Given the description of an element on the screen output the (x, y) to click on. 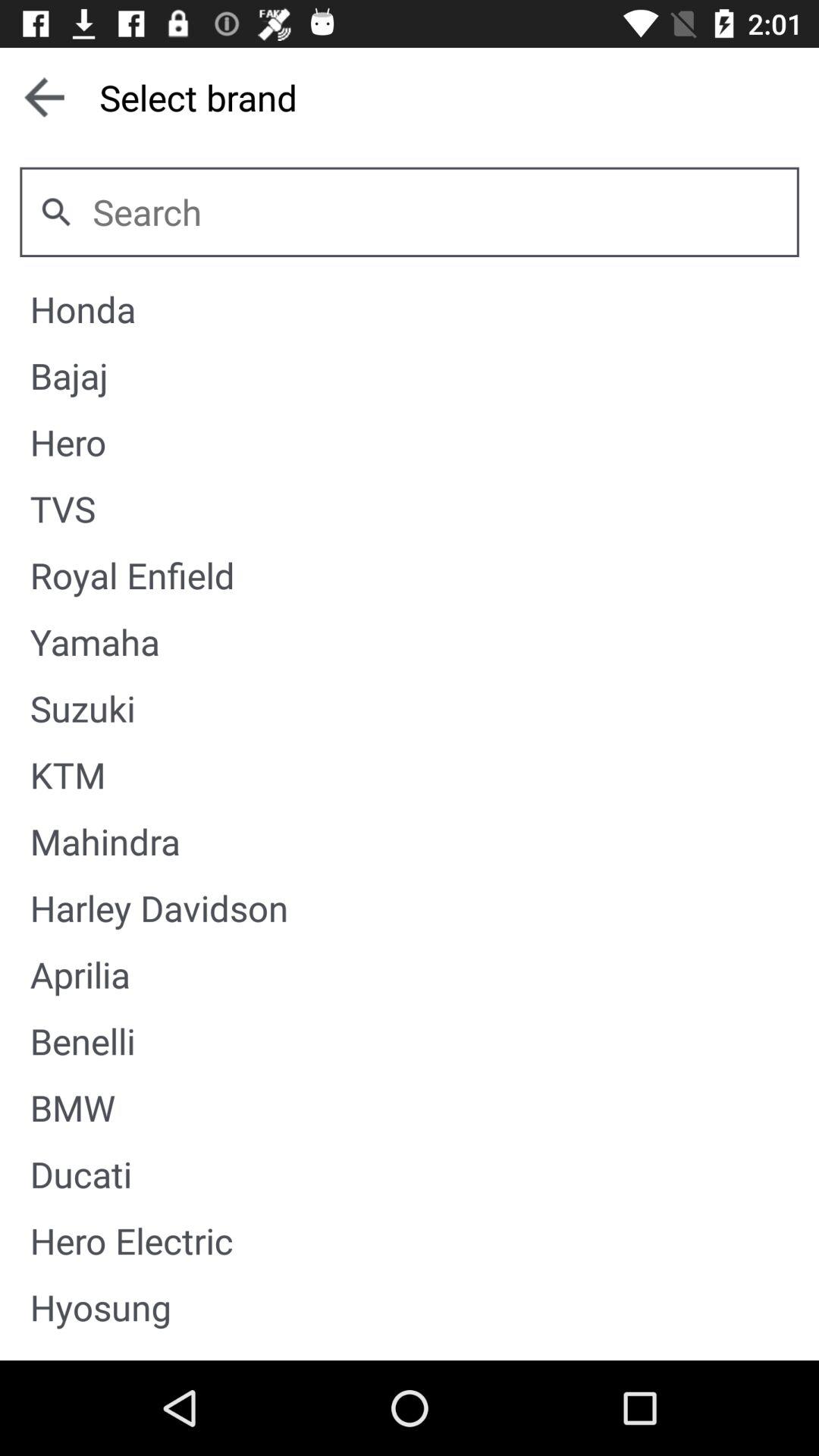
select the search icon on the web page (56, 212)
select the text field search on the web page (435, 212)
